Given the description of an element on the screen output the (x, y) to click on. 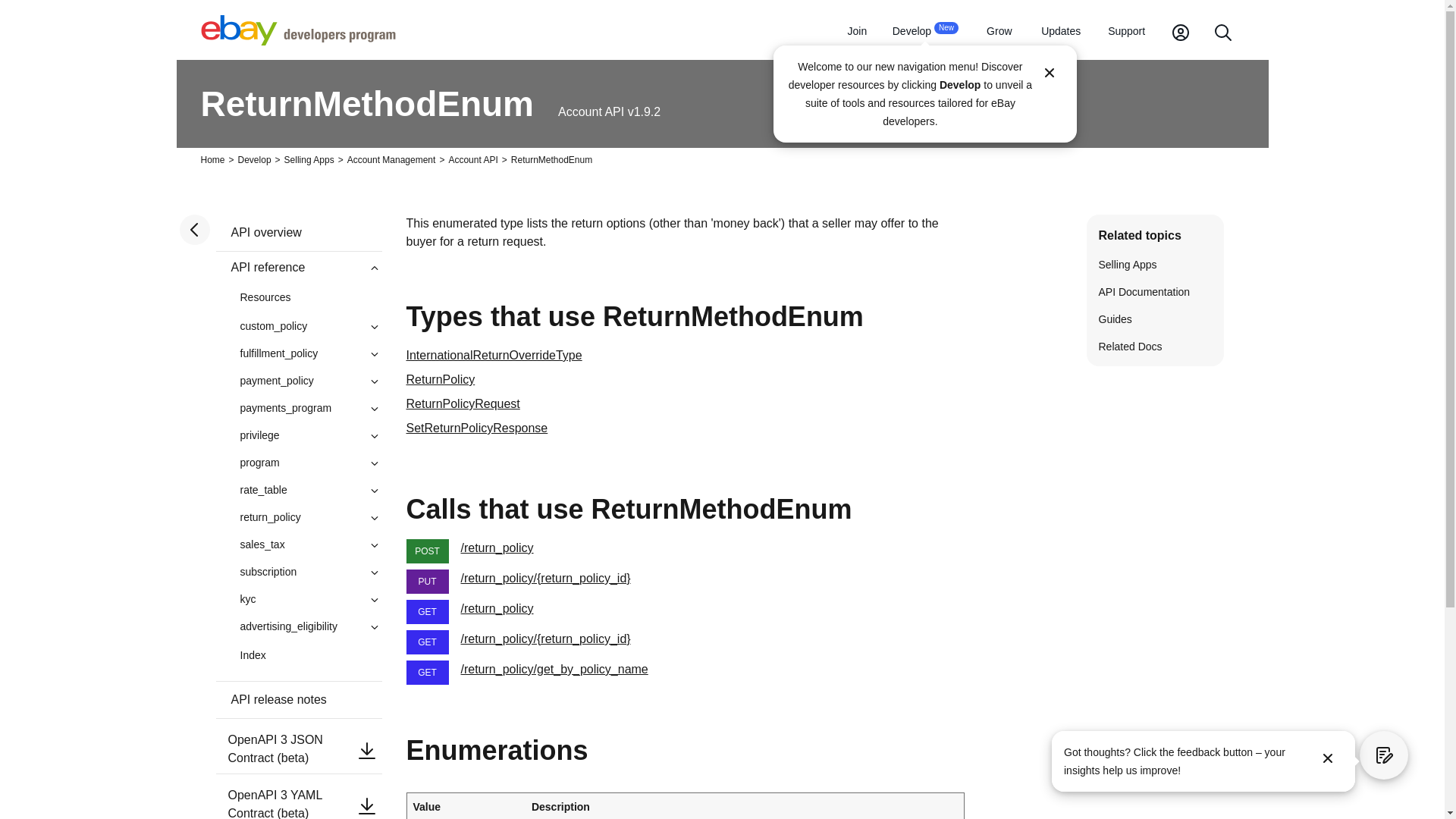
Join (857, 31)
Skip to main content (924, 31)
